Given the description of an element on the screen output the (x, y) to click on. 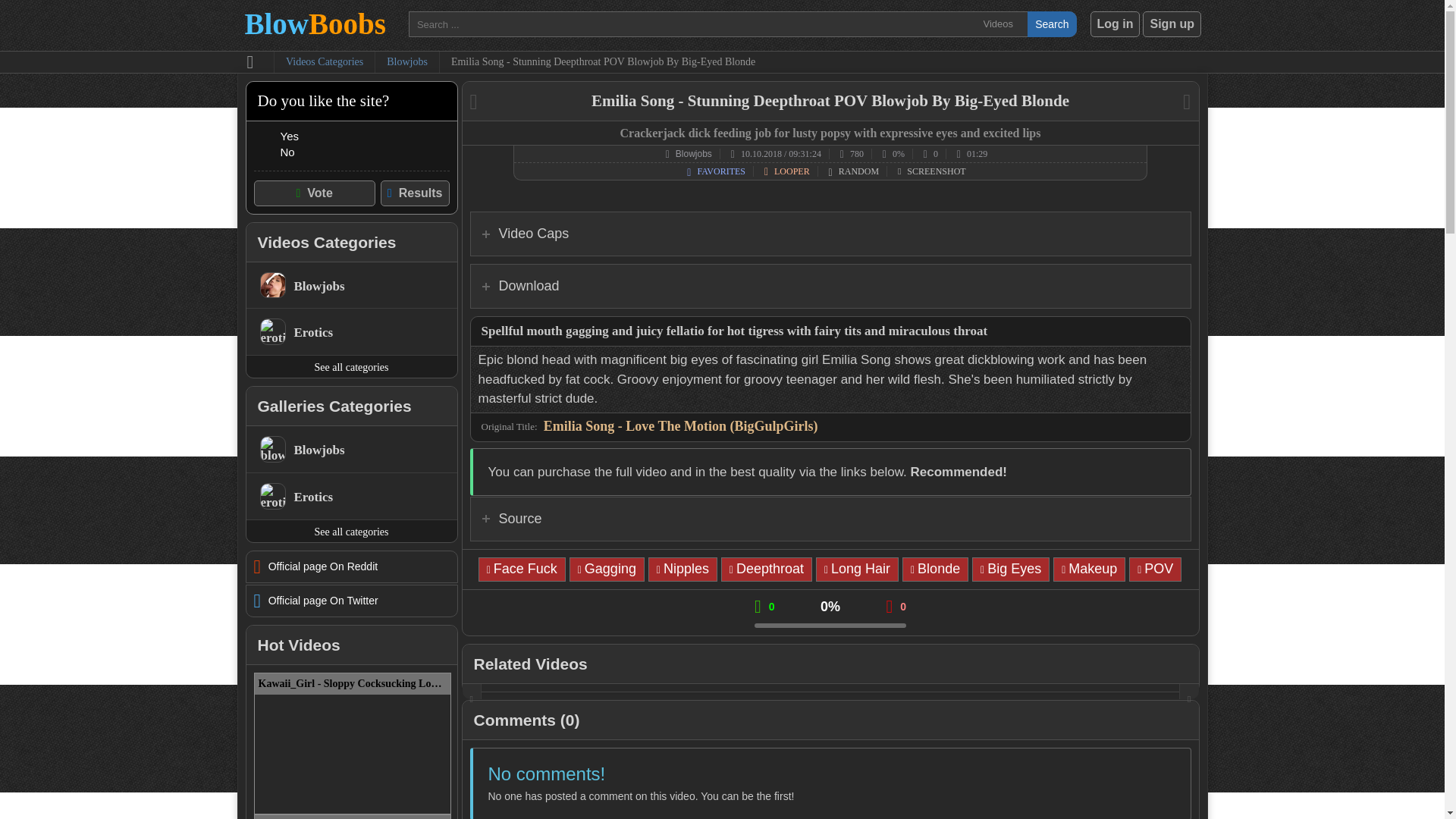
0 (934, 153)
Blonde (935, 569)
Face Fuck (522, 569)
Search (1051, 23)
Makeup (1088, 569)
Gagging (607, 569)
Blowjobs (407, 61)
POV (1154, 569)
Loop a video at a given time interval (791, 171)
Long Hair (856, 569)
Log in (1115, 23)
Deepthroat (766, 569)
Add video to favorites list (720, 171)
